Given the description of an element on the screen output the (x, y) to click on. 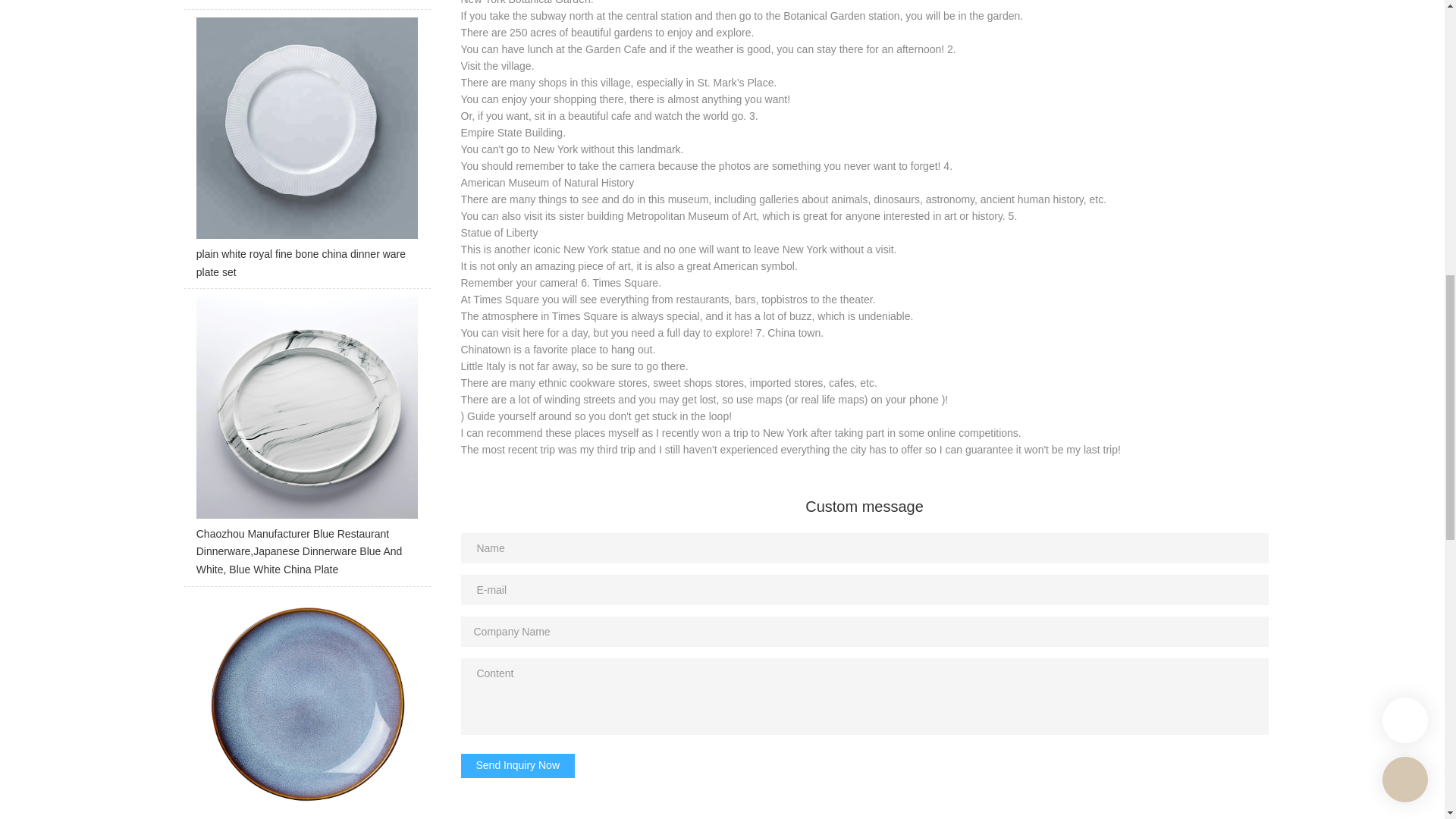
plain white royal fine bone china dinner ware plate set (306, 153)
Send Inquiry Now (518, 765)
